Given the description of an element on the screen output the (x, y) to click on. 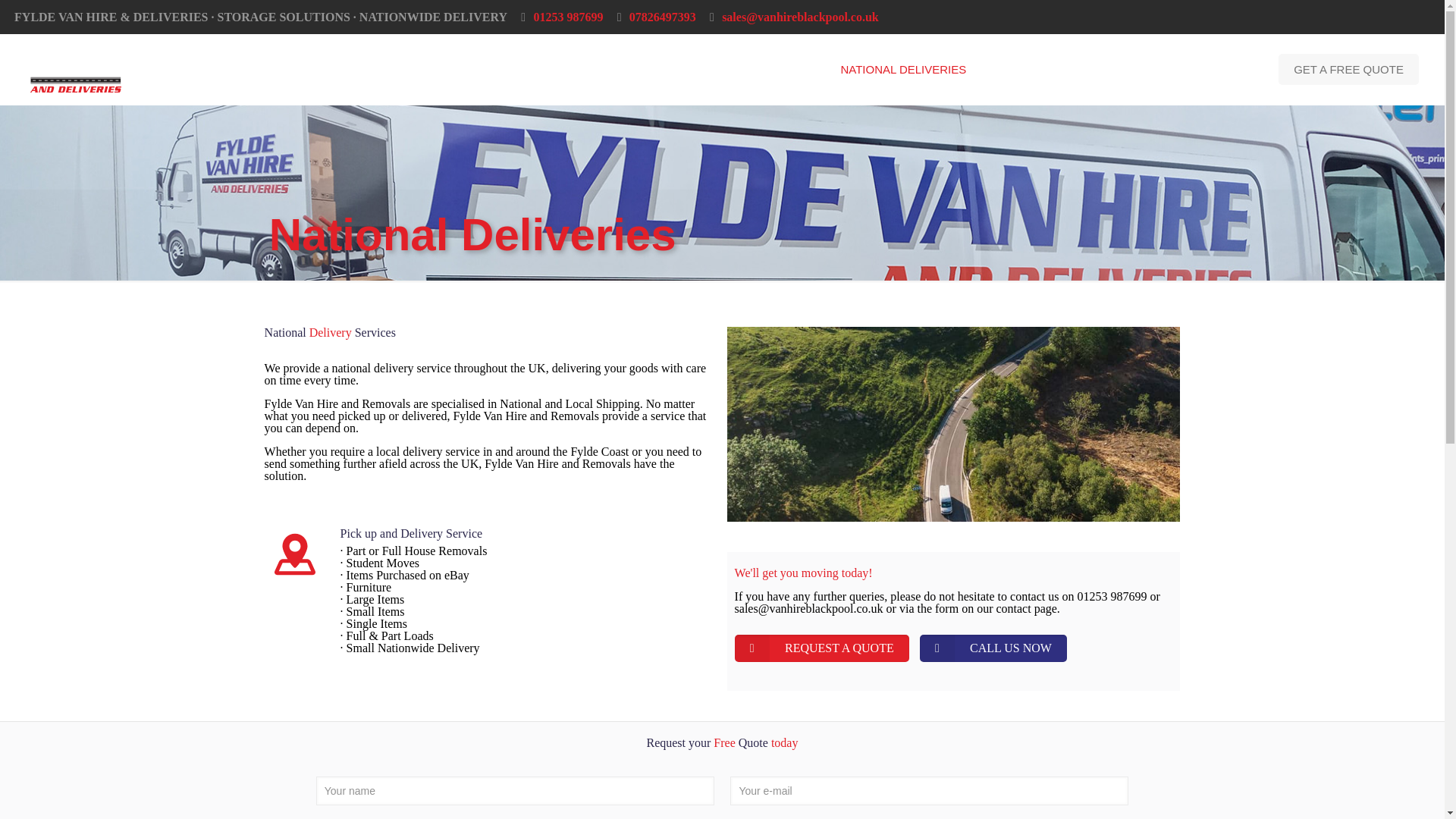
Can Slot Machines Accept Currency in UK (717, 292)
REQUEST A QUOTE (821, 647)
HOME (422, 70)
CALL US NOW (993, 647)
07826497393 (661, 16)
STORAGE (1024, 70)
UK Casino Opening Dates (462, 286)
No Deposit Bonus UK Casinos Online (626, 286)
NATIONAL DELIVERIES (903, 70)
PACKING MATERIALS (751, 70)
Fylde Van Hire and Deliveries (75, 70)
GET A FREE QUOTE (1348, 69)
United Kingdom Roulette Practice (84, 286)
01253 987699 (567, 16)
VAN HIRE (495, 70)
